Given the description of an element on the screen output the (x, y) to click on. 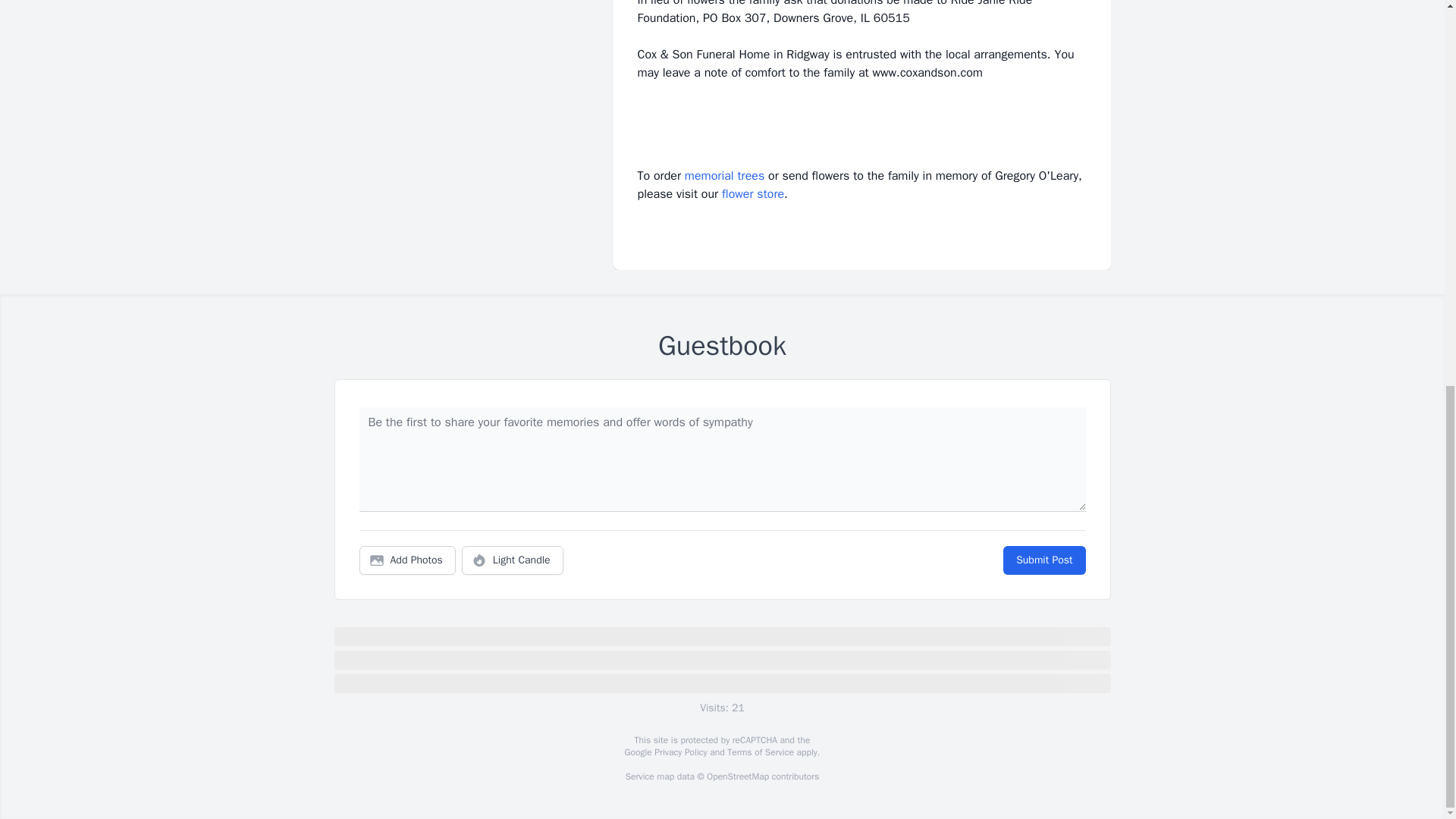
Add Photos (407, 560)
Submit Post (1043, 560)
OpenStreetMap (737, 776)
flower store (753, 193)
memorial trees (724, 175)
Light Candle (512, 560)
Terms of Service (759, 752)
Privacy Policy (679, 752)
